Given the description of an element on the screen output the (x, y) to click on. 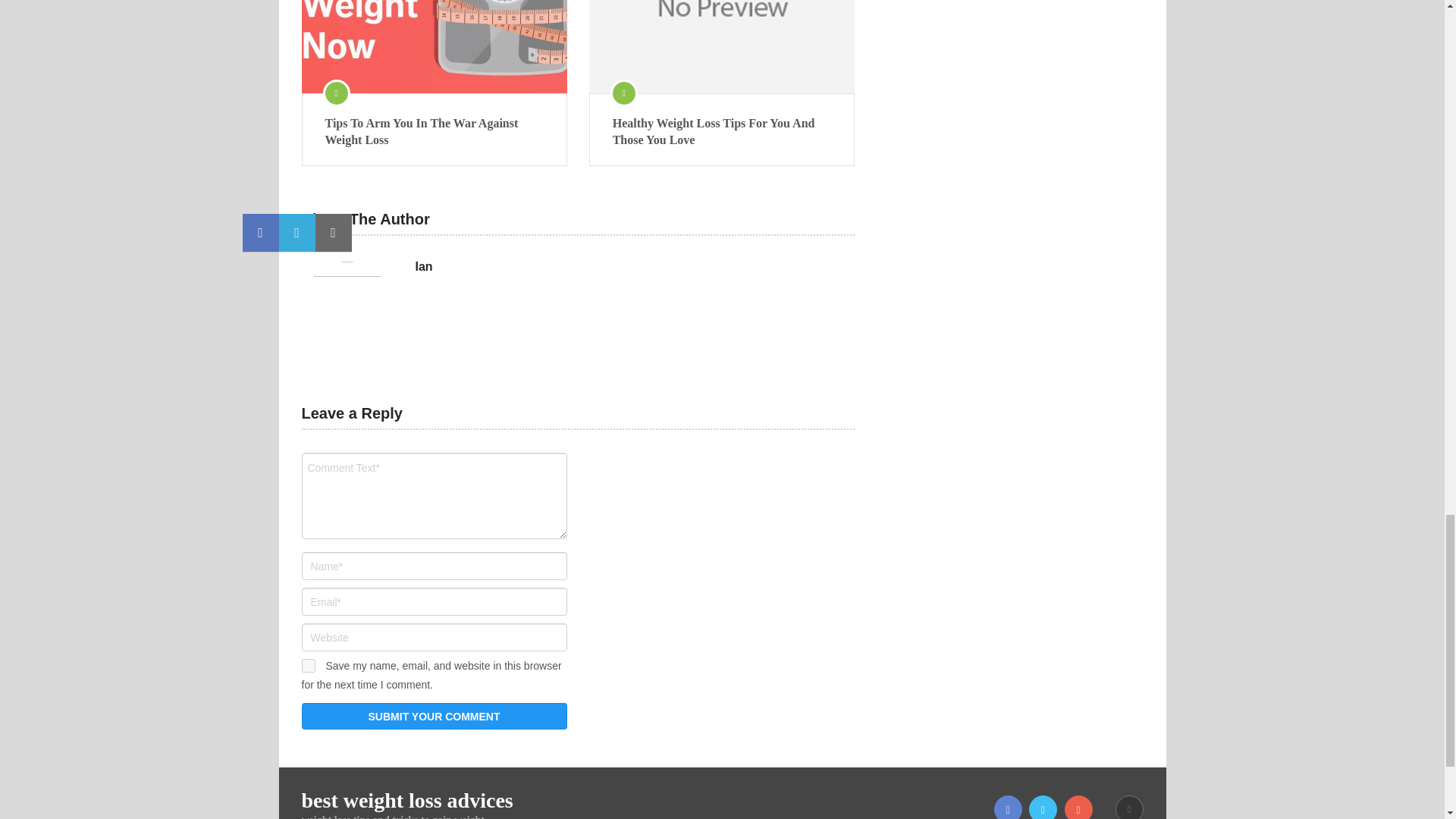
Healthy Weight Loss Tips For You And Those You Love (721, 132)
Tips To Arm You In The War Against Weight Loss (433, 132)
Tips To Arm You In The War Against Weight Loss (433, 132)
Healthy Weight Loss Tips For You And Those You Love (721, 46)
Submit Your Comment (434, 715)
yes (308, 665)
best weight loss advices (407, 800)
Tips To Arm You In The War Against Weight Loss (434, 46)
Healthy Weight Loss Tips For You And Those You Love (721, 132)
Submit Your Comment (434, 715)
Ian (423, 266)
